Given the description of an element on the screen output the (x, y) to click on. 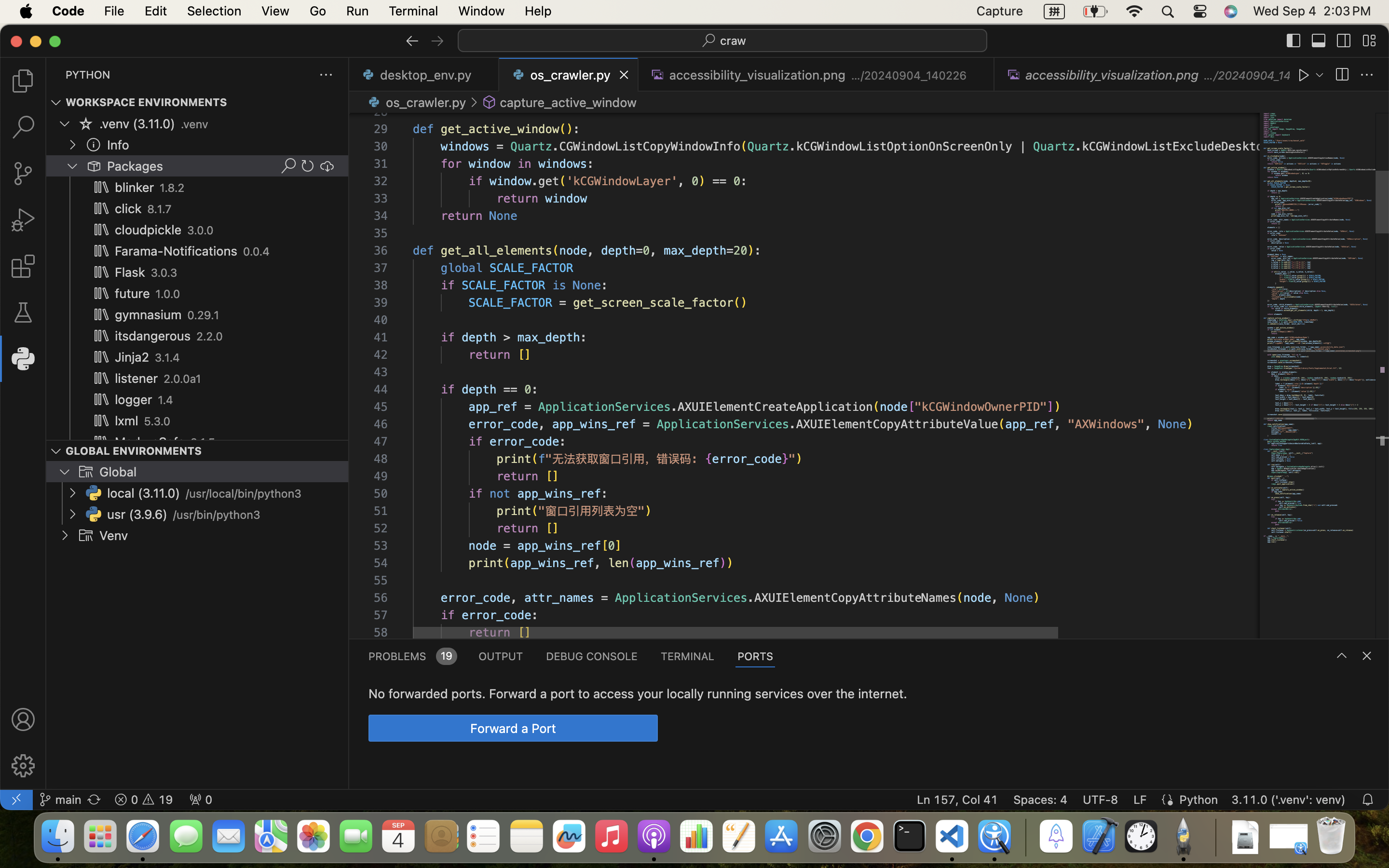
/usr/bin/python3 Element type: AXStaticText (216, 514)
 Element type: AXButton (288, 165)
1.8.2 Element type: AXStaticText (172, 187)
 Element type: AXButton (1369, 40)
0  Element type: AXRadioButton (23, 80)
